Given the description of an element on the screen output the (x, y) to click on. 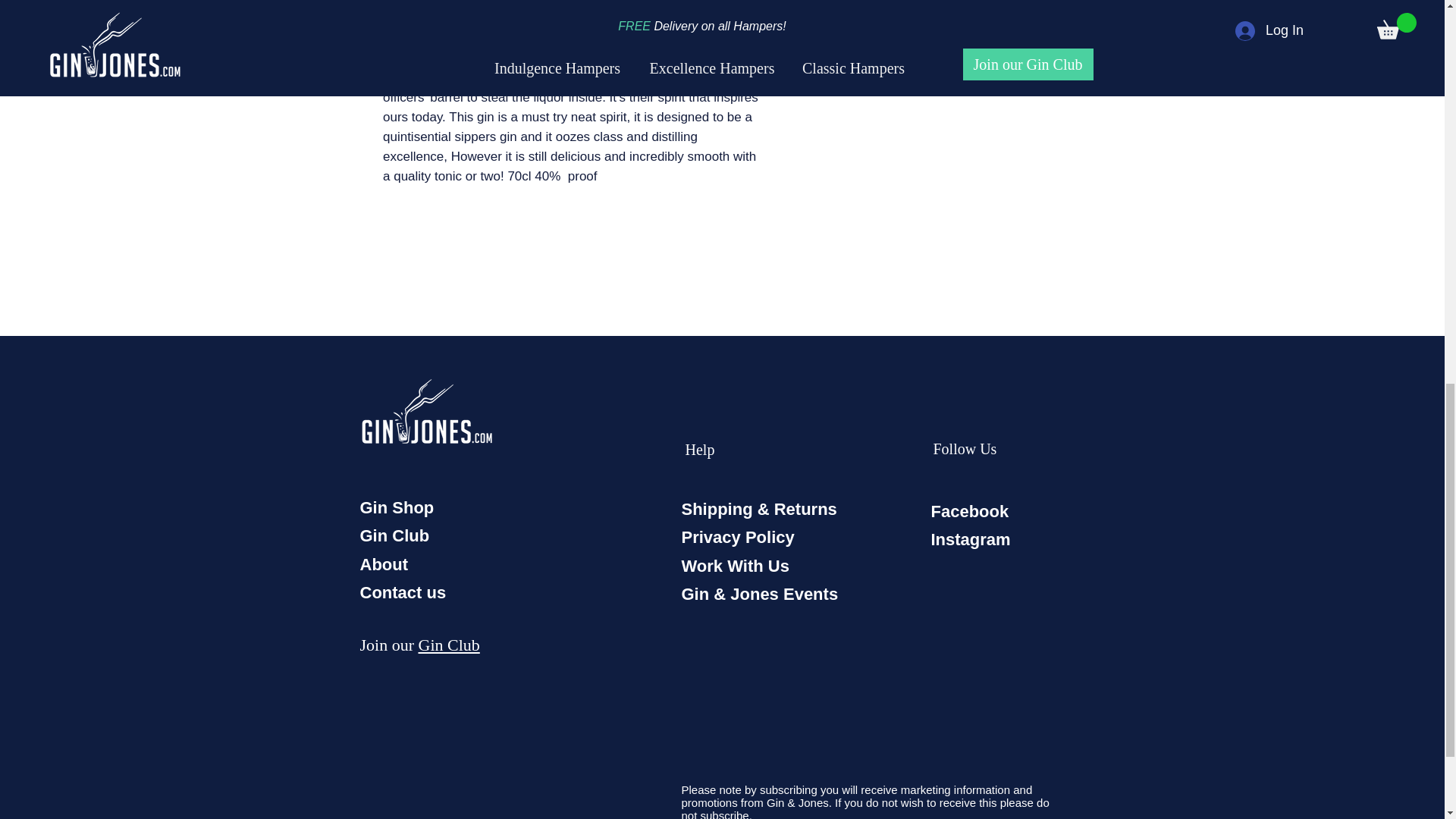
Gin Club (394, 535)
Gin Club (449, 644)
Gin Shop (396, 506)
About (383, 564)
Privacy Policy (737, 537)
Contact us (402, 592)
Instagram (970, 538)
Facebook (970, 511)
Work With Us (735, 565)
